Given the description of an element on the screen output the (x, y) to click on. 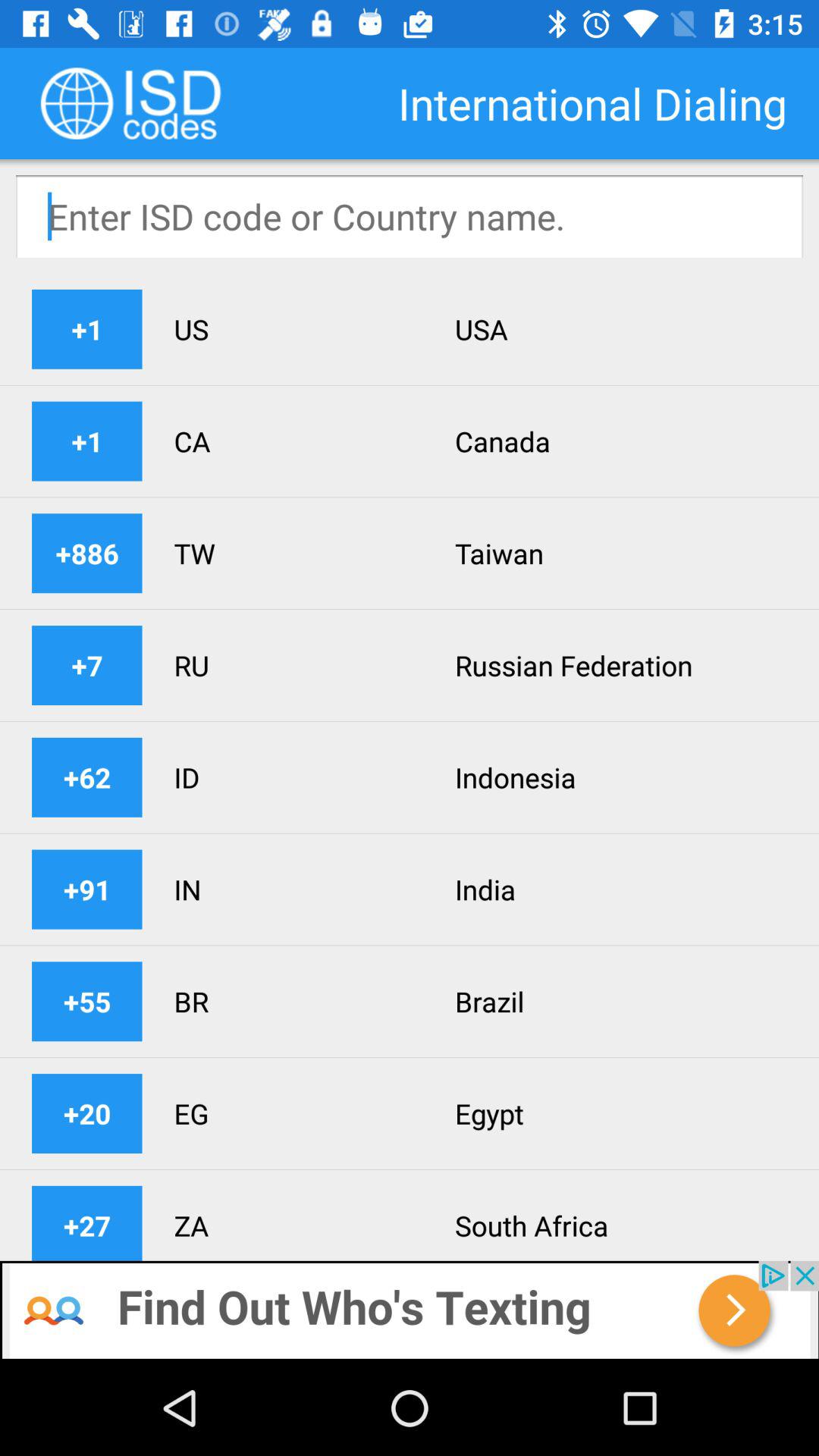
to go previous (409, 1310)
